Given the description of an element on the screen output the (x, y) to click on. 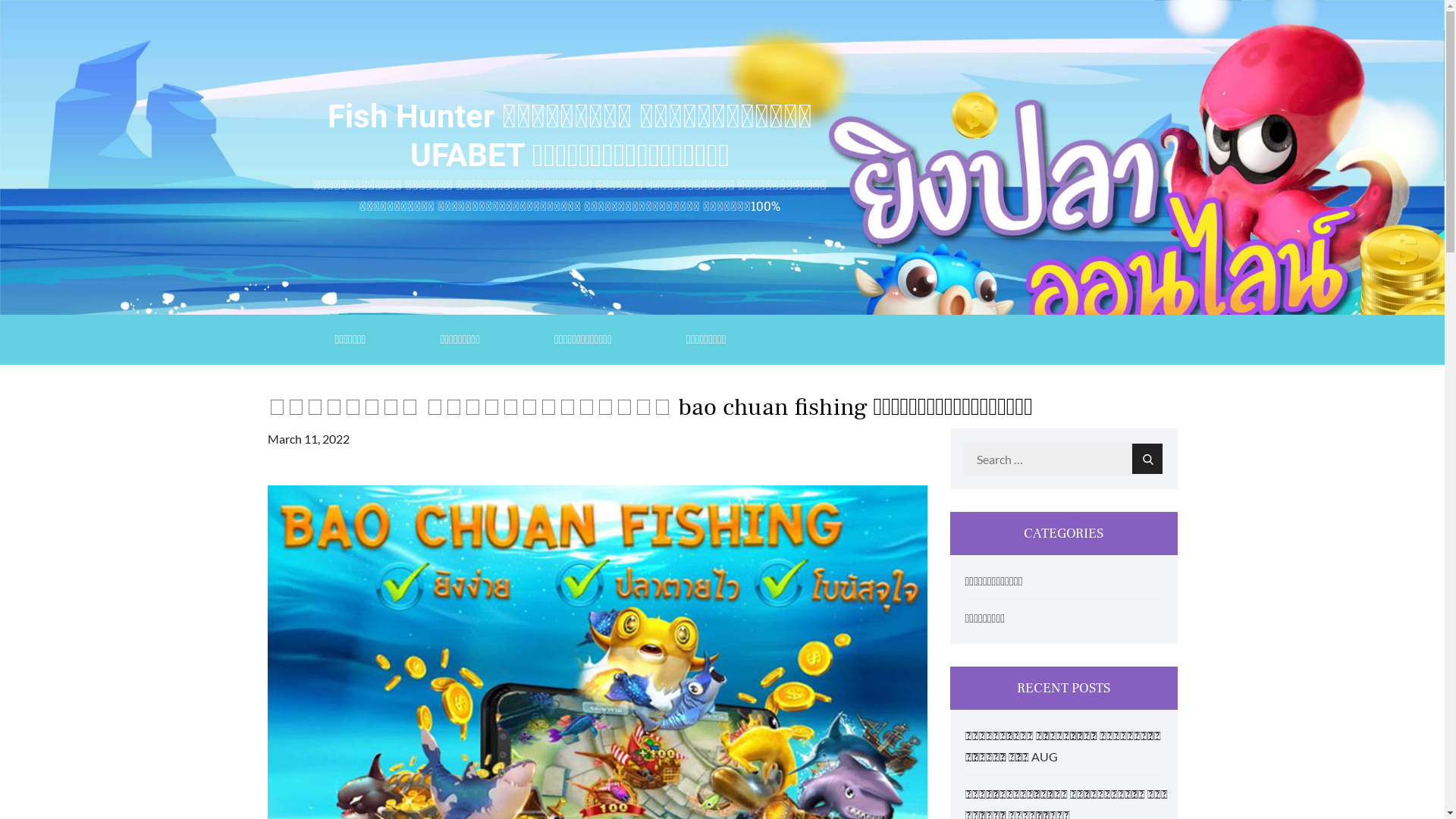
March 11, 2022 Element type: text (307, 438)
